Given the description of an element on the screen output the (x, y) to click on. 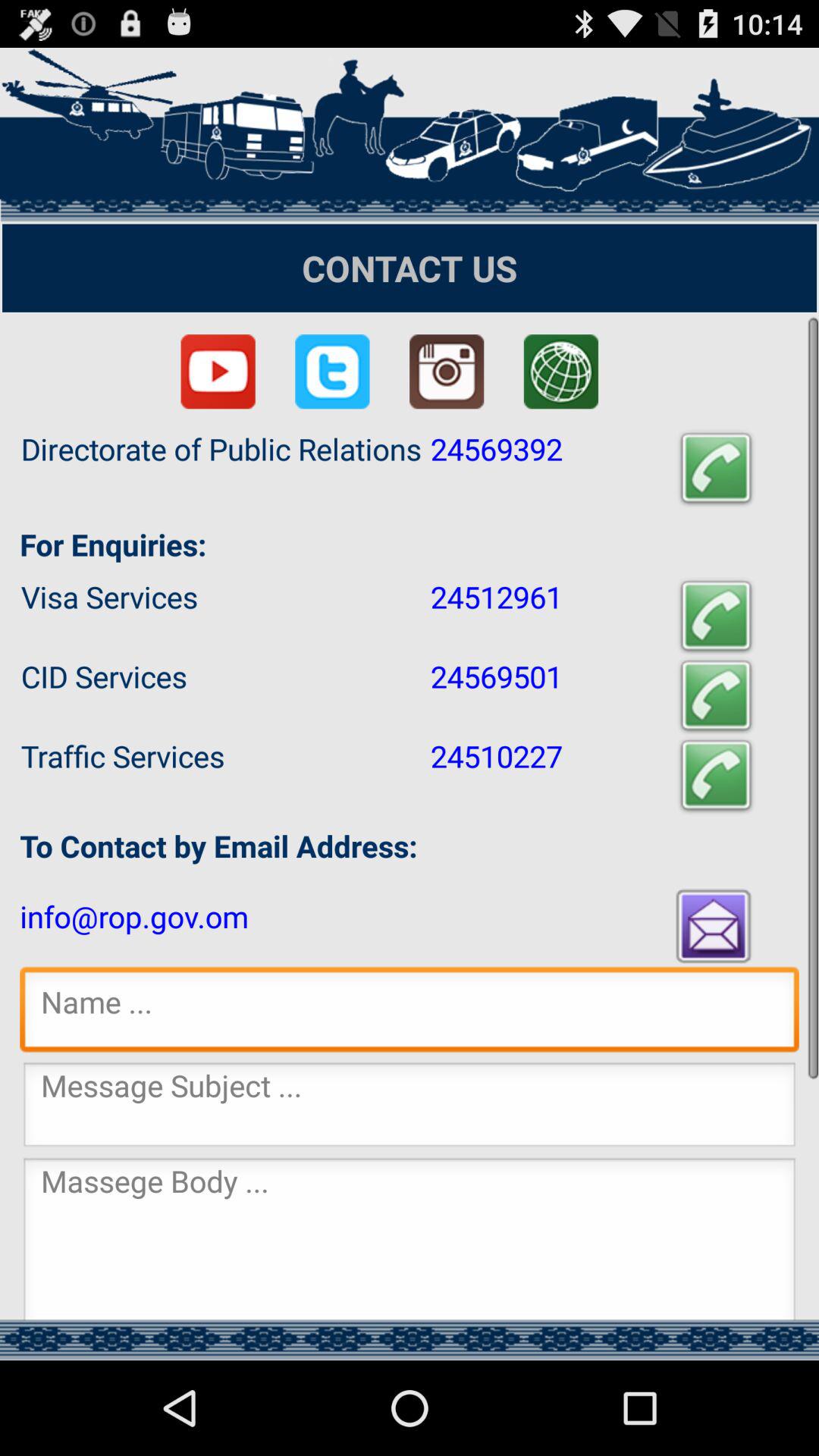
enter name (409, 1013)
